Given the description of an element on the screen output the (x, y) to click on. 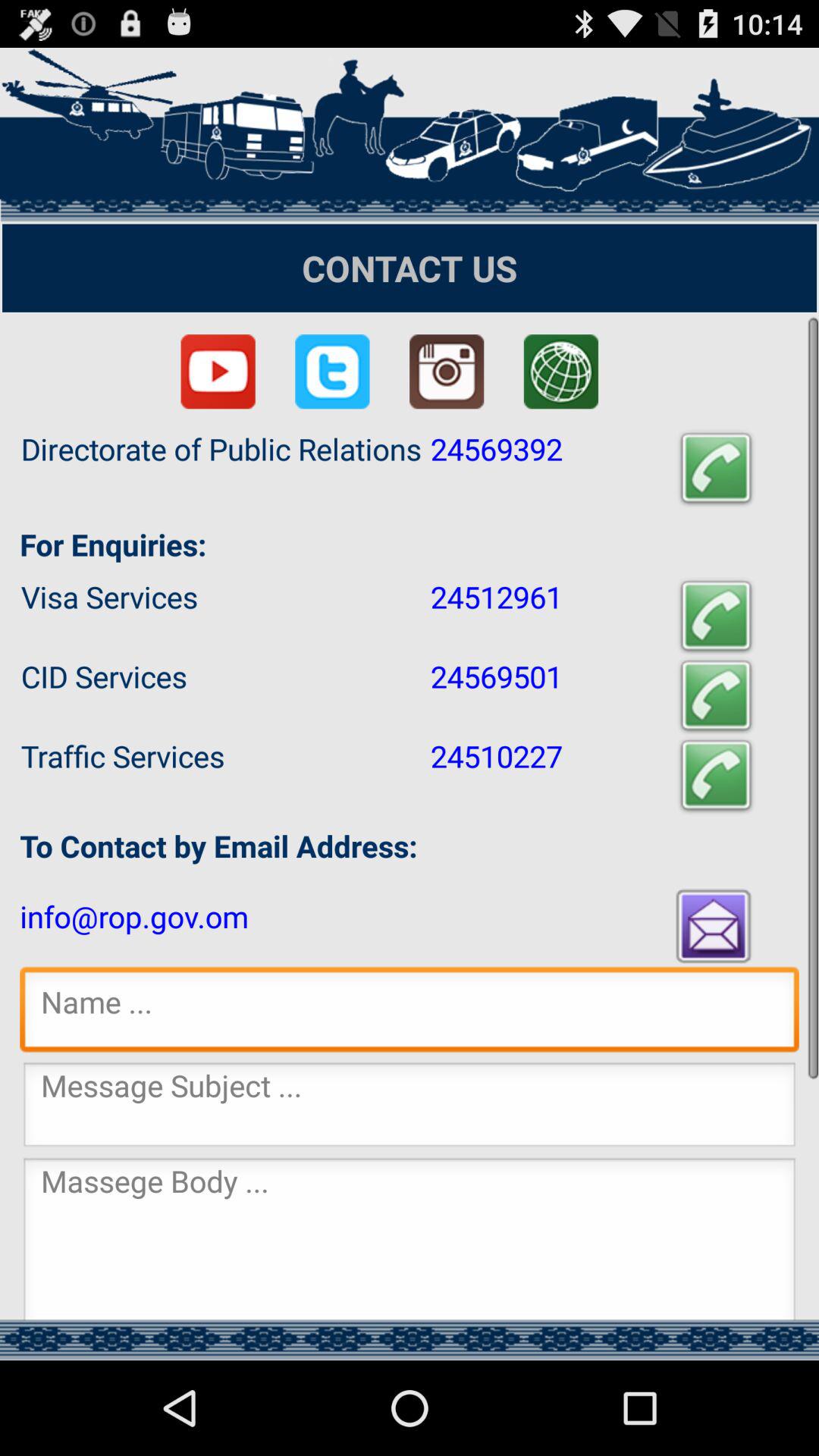
enter name (409, 1013)
